Given the description of an element on the screen output the (x, y) to click on. 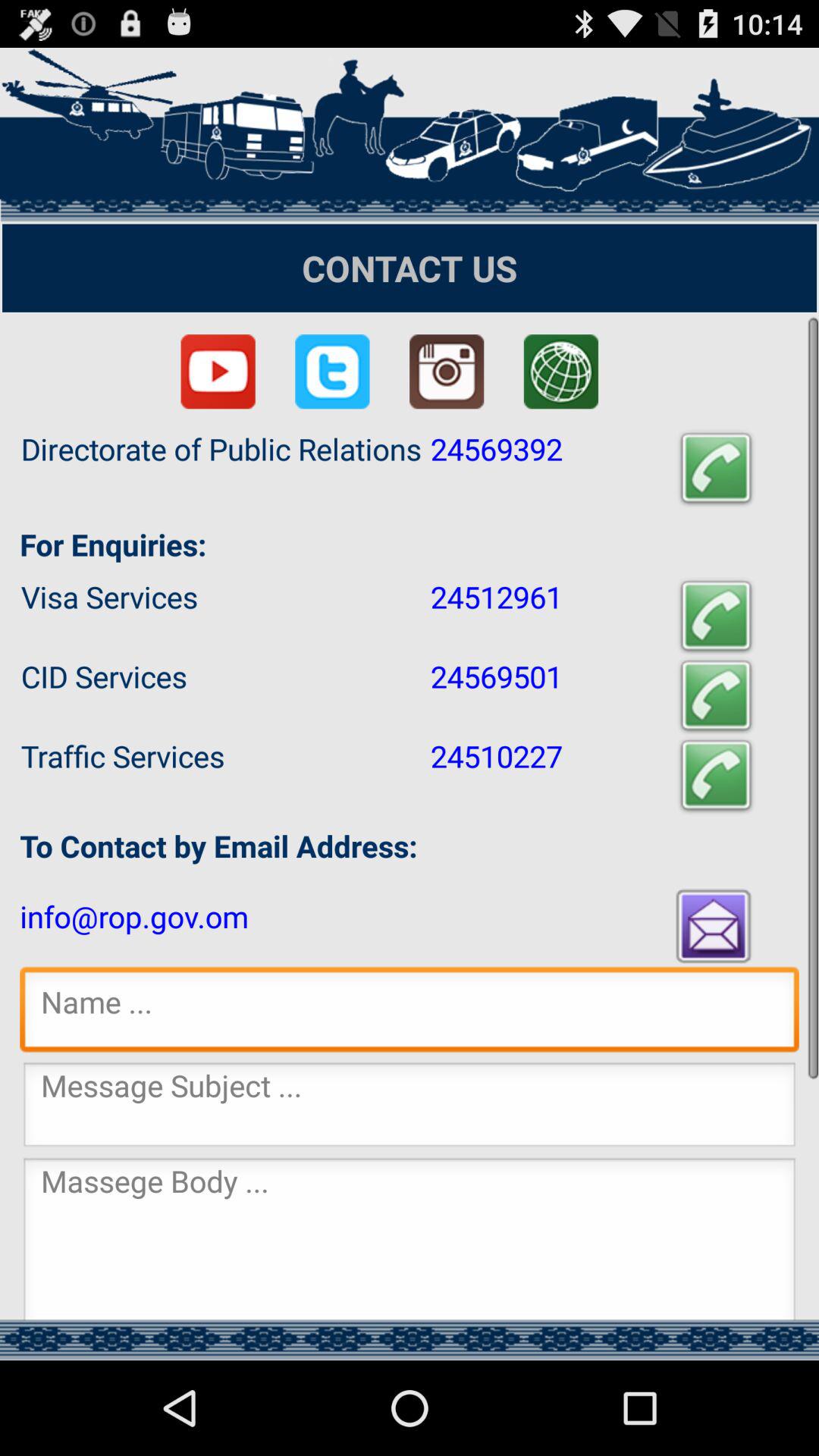
enter name (409, 1013)
